Given the description of an element on the screen output the (x, y) to click on. 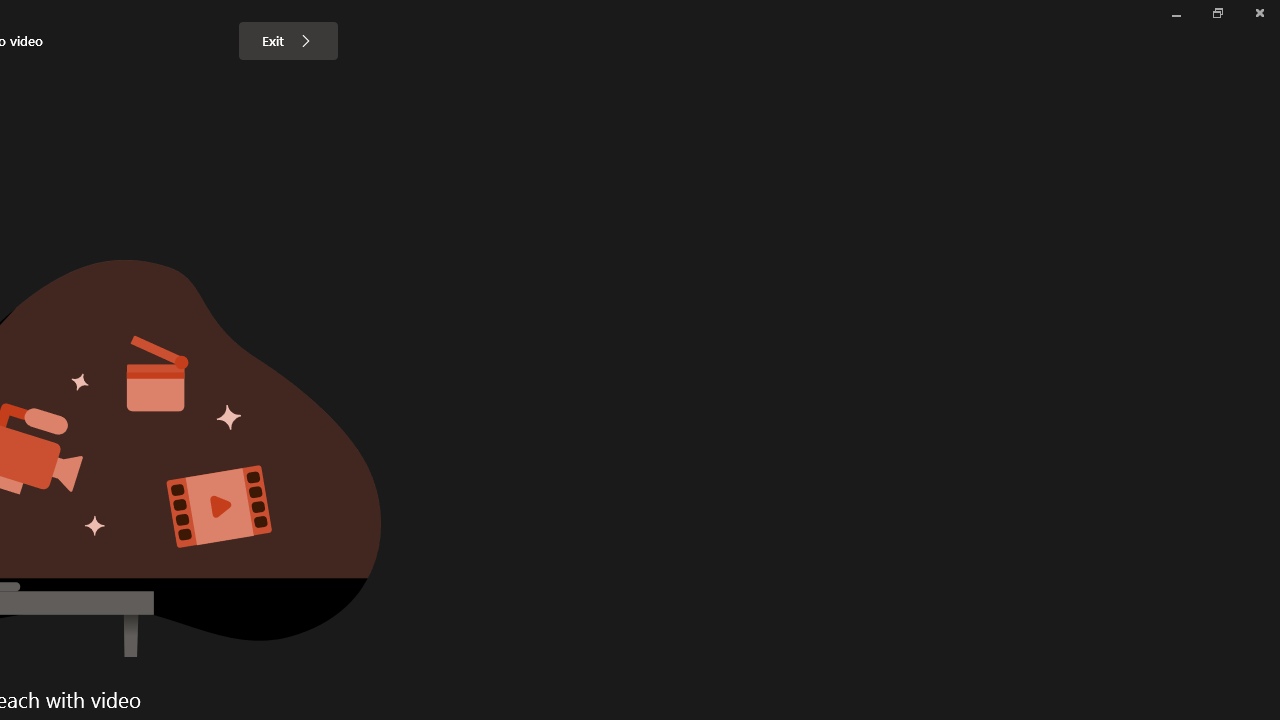
TextBox 61 (262, 686)
